Given the description of an element on the screen output the (x, y) to click on. 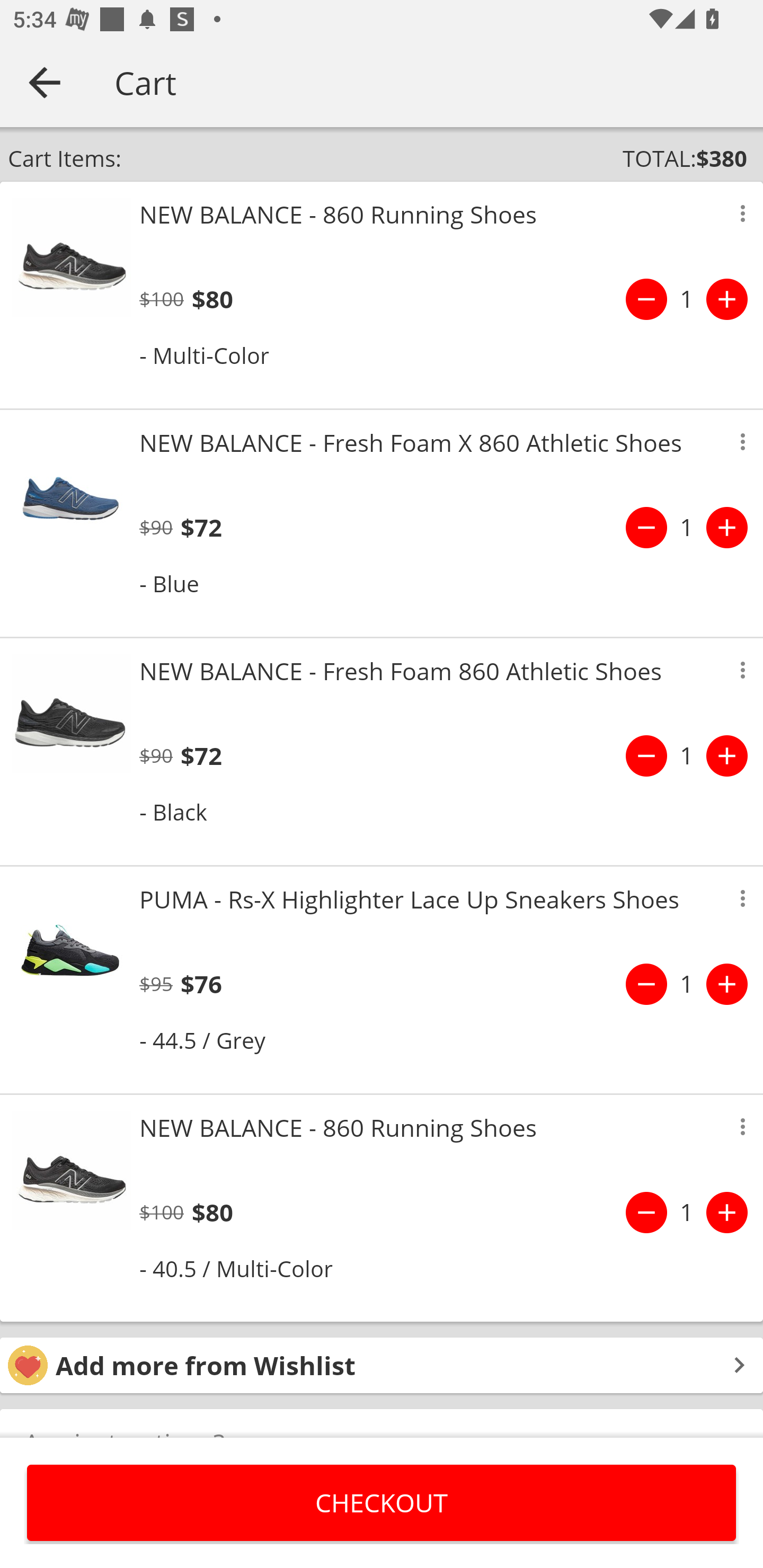
Navigate up (44, 82)
1 (686, 299)
1 (686, 527)
1 (686, 755)
1 (686, 984)
1 (686, 1211)
Add more from Wishlist (381, 1365)
CHECKOUT (381, 1502)
